Given the description of an element on the screen output the (x, y) to click on. 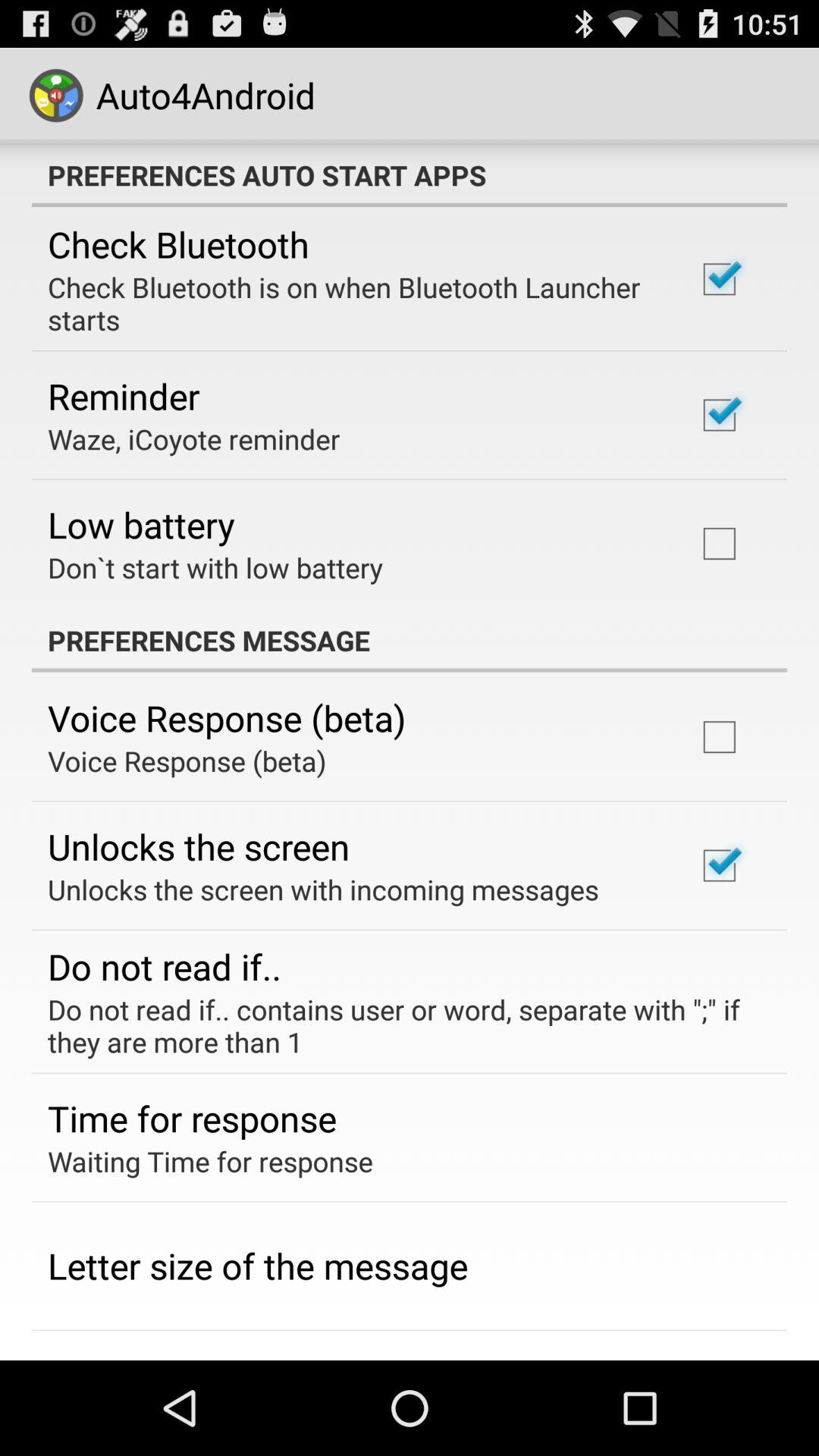
click item below the low battery app (214, 567)
